Given the description of an element on the screen output the (x, y) to click on. 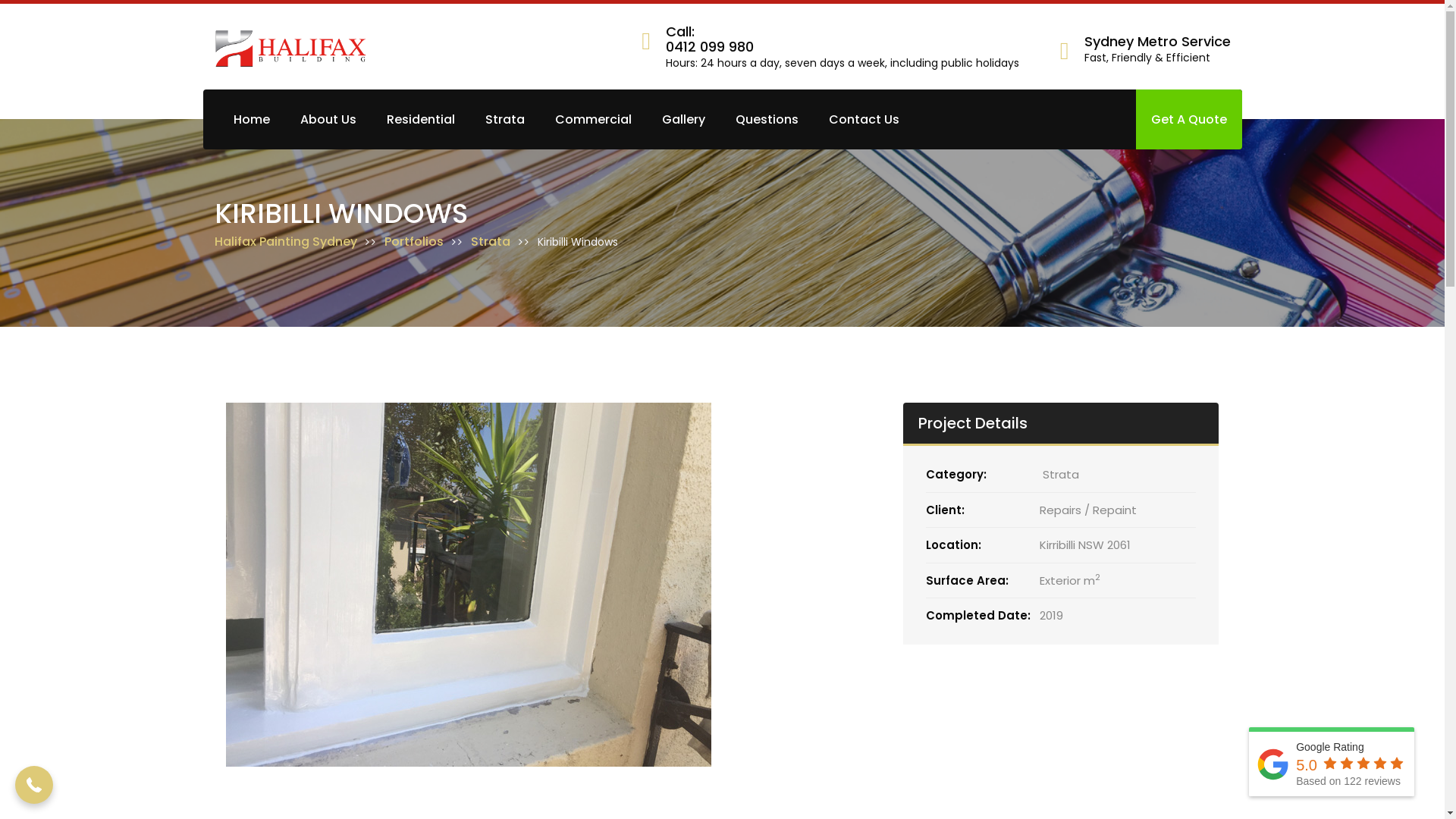
Portfolios Element type: text (417, 241)
Get A Quote Element type: text (1188, 119)
Strata Element type: text (494, 241)
Gallery Element type: text (682, 119)
0412 099 980 Element type: text (842, 55)
Strata Element type: text (504, 119)
About Us Element type: text (328, 119)
Questions Element type: text (766, 119)
Contact Us Element type: text (863, 119)
Home Element type: text (251, 119)
Halifax Painting Sydney Element type: text (289, 241)
Residential Element type: text (420, 119)
Commercial Element type: text (593, 119)
